Given the description of an element on the screen output the (x, y) to click on. 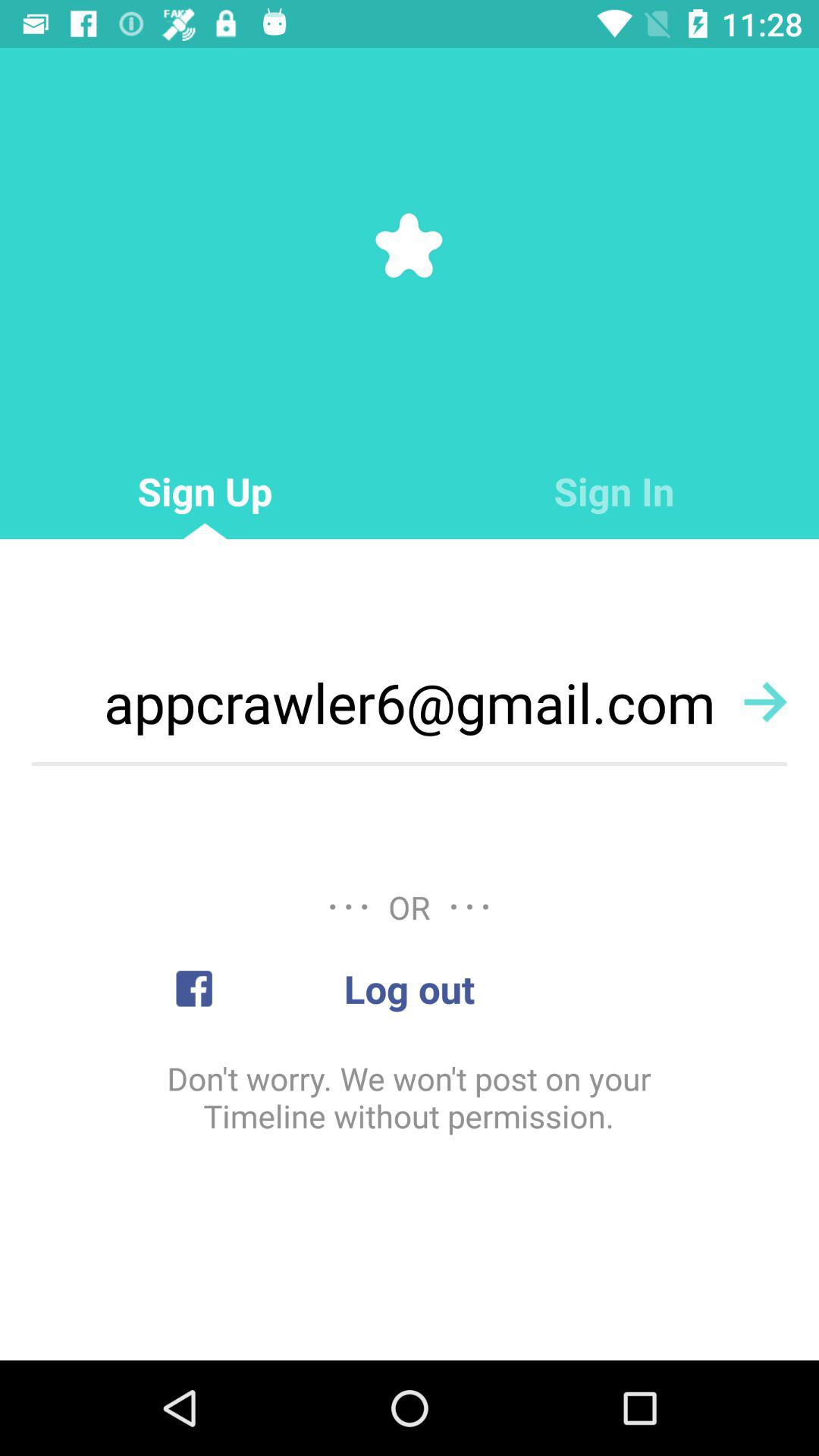
flip to the log out item (409, 988)
